Given the description of an element on the screen output the (x, y) to click on. 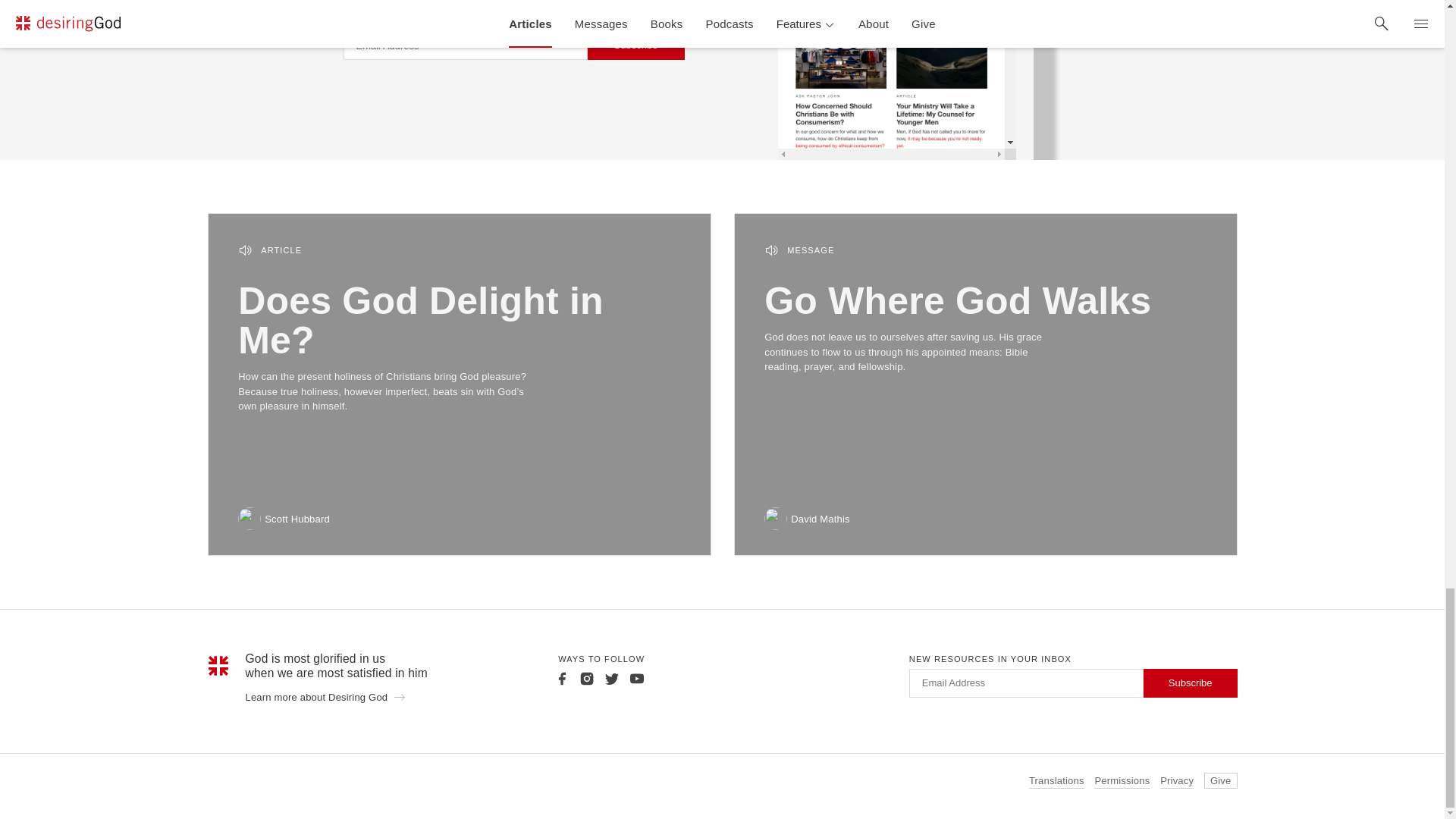
Twitter (612, 678)
Mark - Large (218, 665)
Arrow (399, 696)
